Given the description of an element on the screen output the (x, y) to click on. 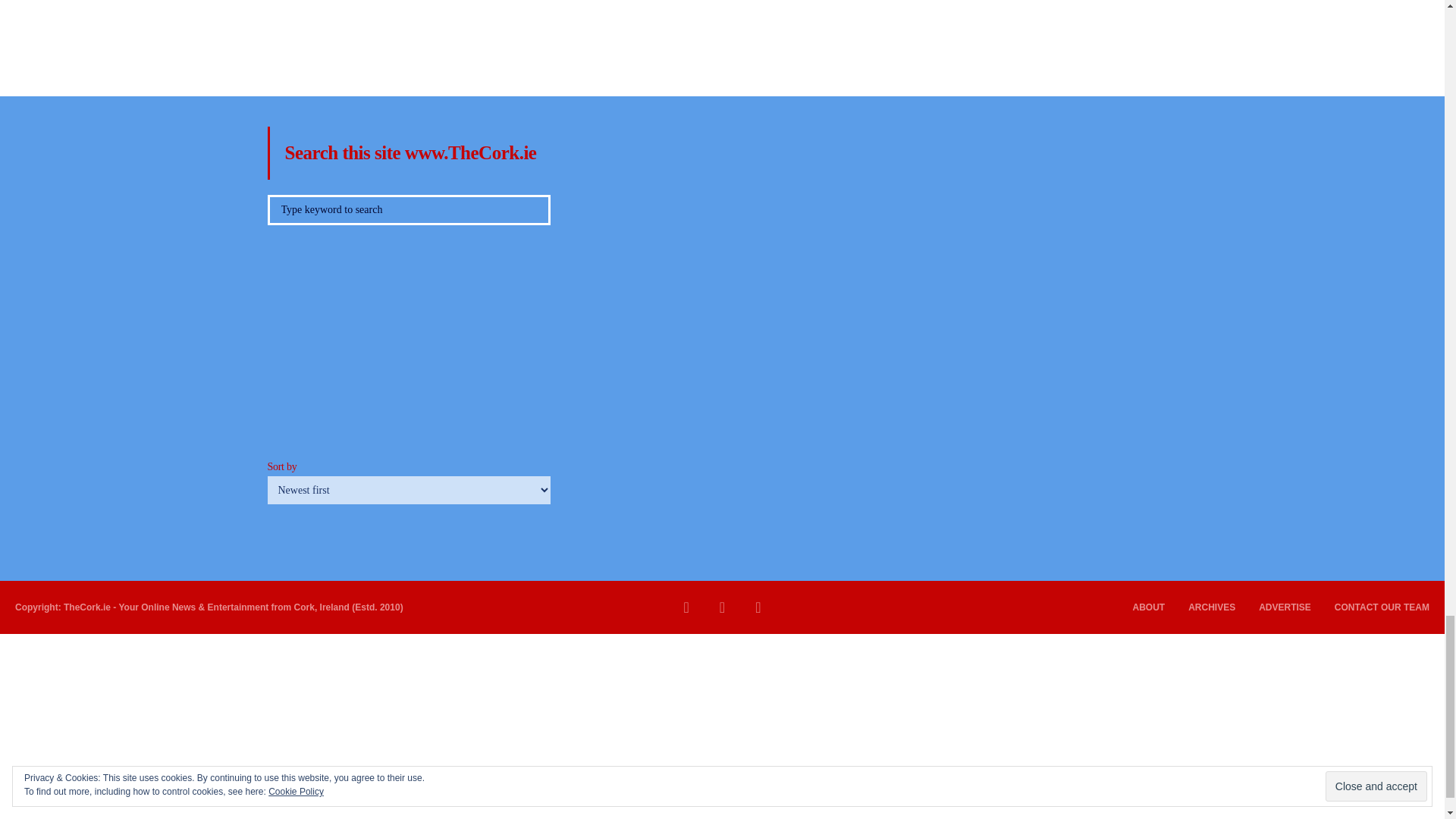
Type keyword to search (408, 209)
Type keyword to search (408, 209)
Advertisement (721, 36)
